Given the description of an element on the screen output the (x, y) to click on. 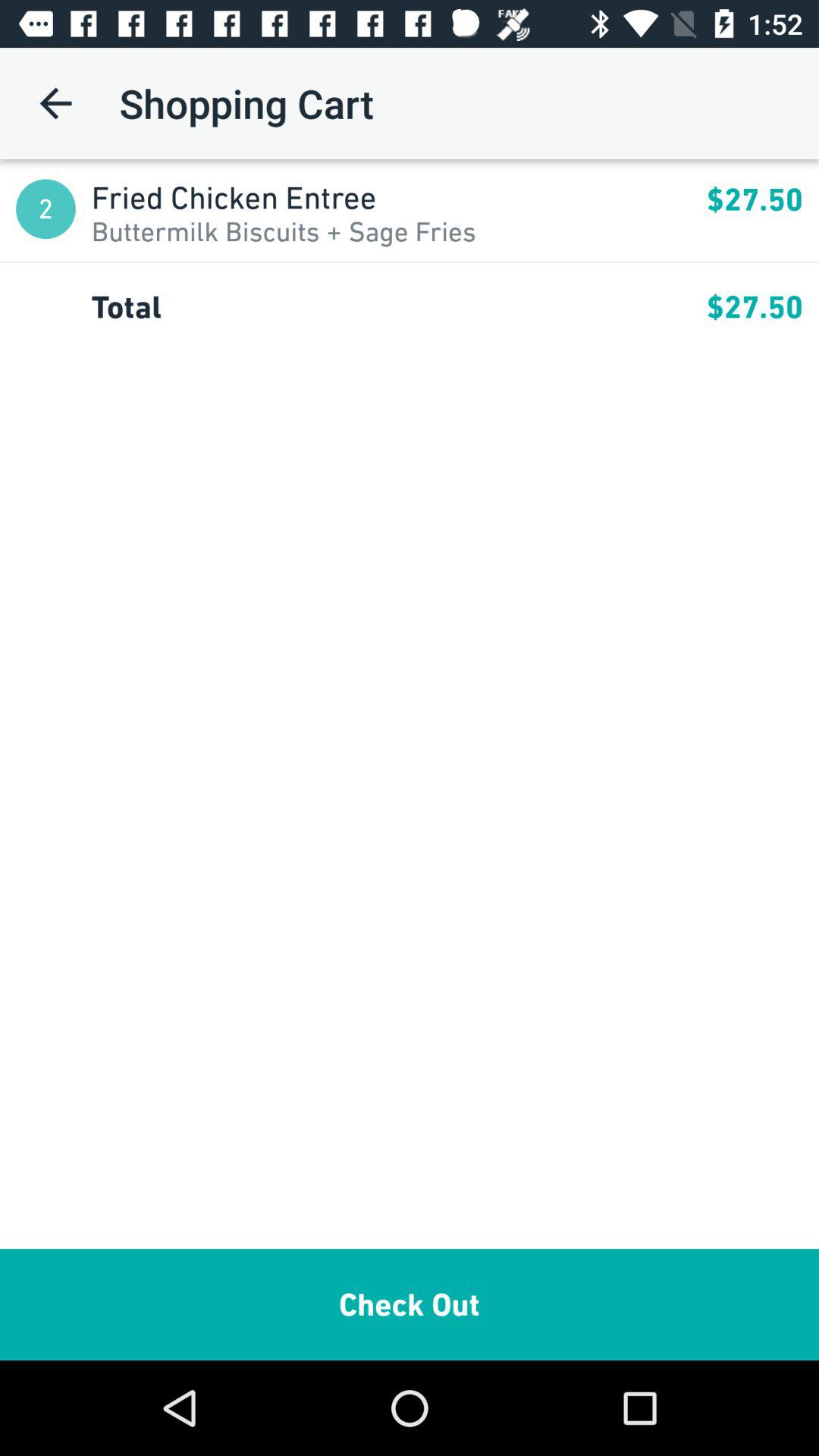
tap item to the right of 2 app (283, 231)
